Given the description of an element on the screen output the (x, y) to click on. 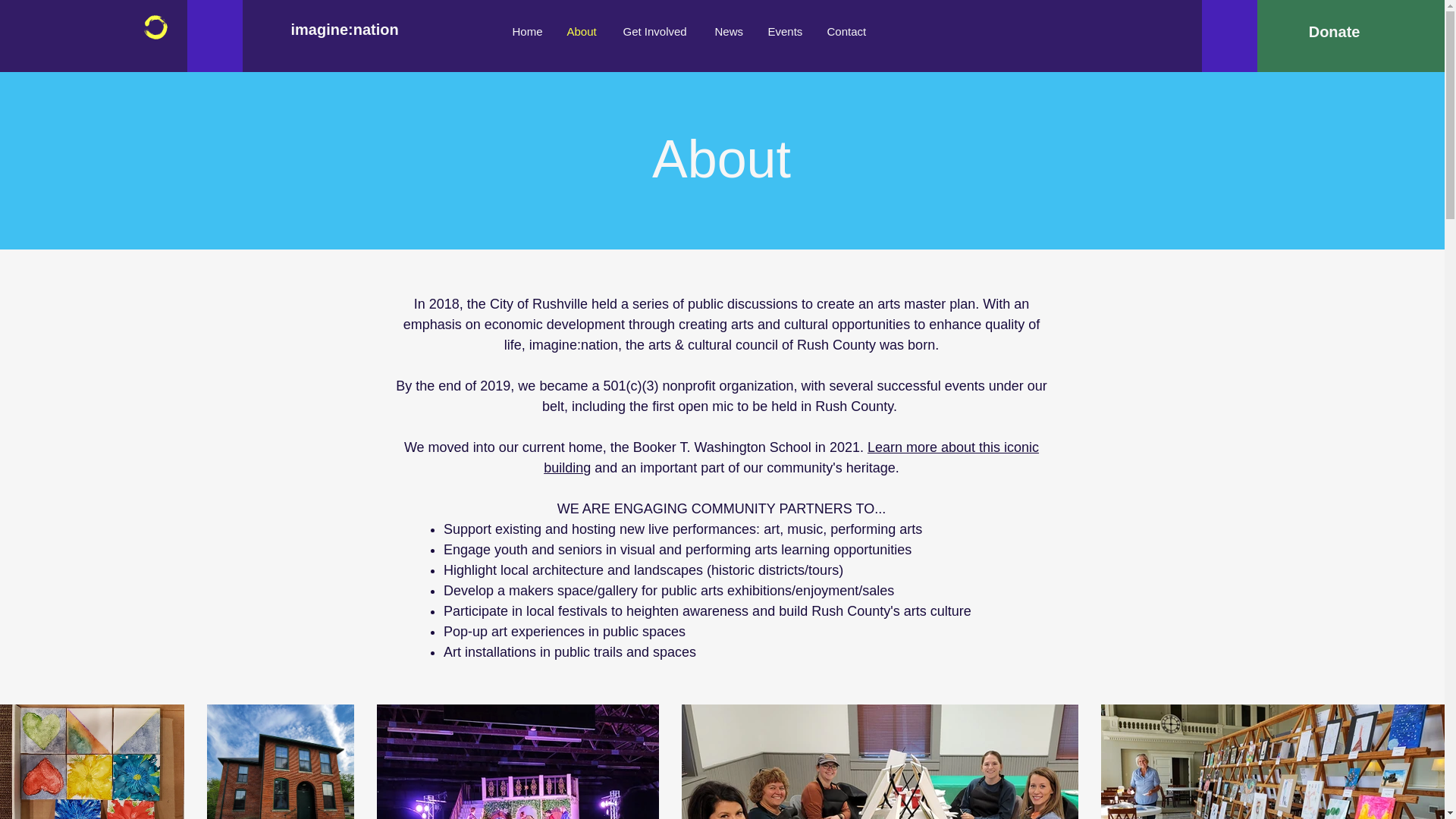
Events (786, 31)
Donate (1333, 31)
Learn more about this iconic building (791, 457)
imagine:nation (363, 29)
Get Involved (657, 31)
About (582, 31)
Contact (847, 31)
News (730, 31)
Home (527, 31)
